Given the description of an element on the screen output the (x, y) to click on. 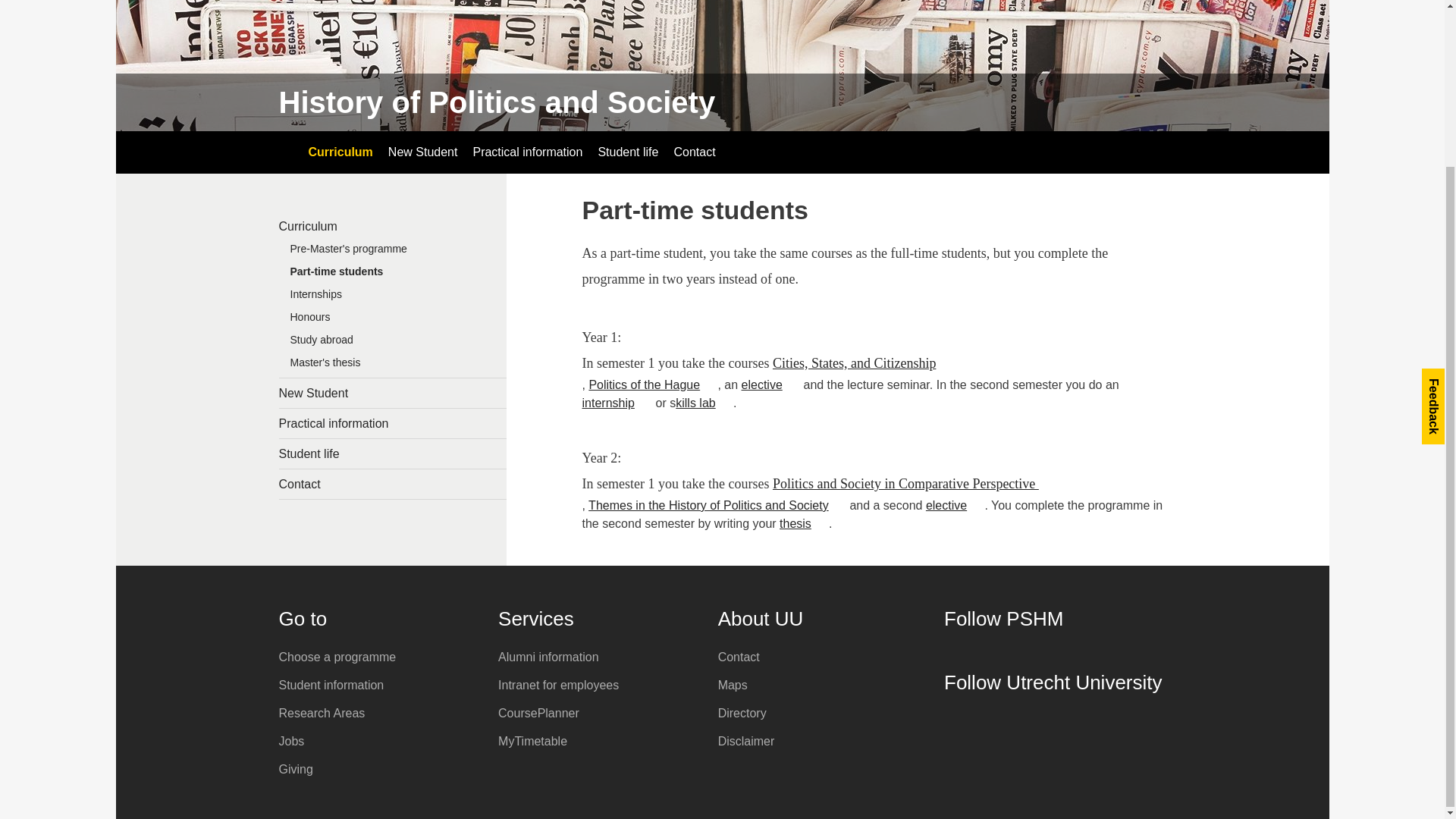
History of Politics and Society (497, 101)
Curriculum (704, 402)
New Student (339, 152)
New Student (422, 152)
Study abroad (392, 392)
Internships (770, 384)
Curriculum (392, 343)
